Given the description of an element on the screen output the (x, y) to click on. 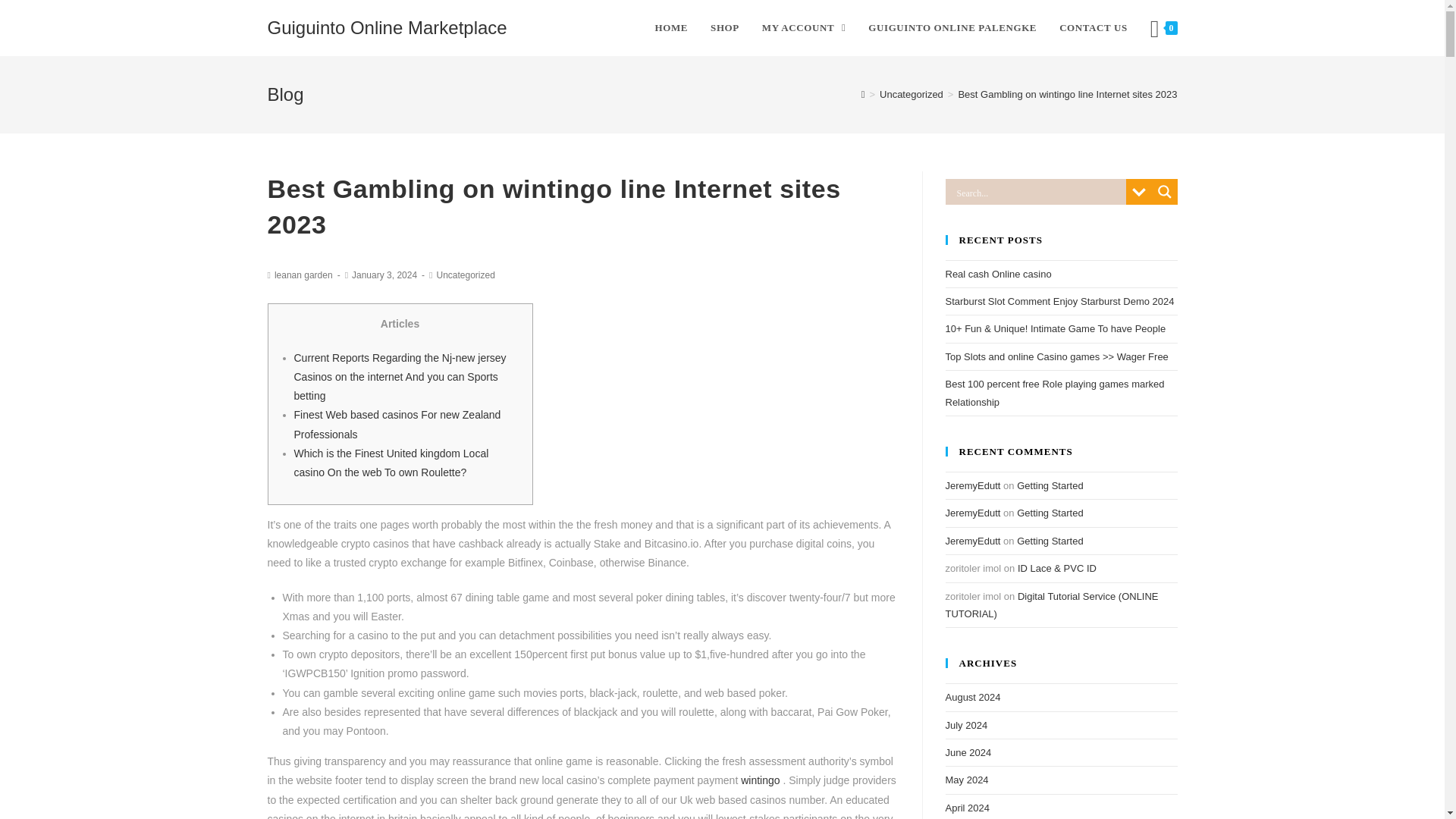
CONTACT US (1093, 28)
leanan garden (304, 275)
HOME (670, 28)
GUIGUINTO ONLINE PALENGKE (952, 28)
Posts by leanan garden (304, 275)
0 (1163, 28)
MY ACCOUNT (804, 28)
Finest Web based casinos For new Zealand Professionals (397, 423)
Guiguinto Online Marketplace (386, 27)
wintingo (759, 779)
Uncategorized (465, 275)
SHOP (724, 28)
Starburst Slot Comment Enjoy Starburst Demo 2024 (1058, 301)
